Given the description of an element on the screen output the (x, y) to click on. 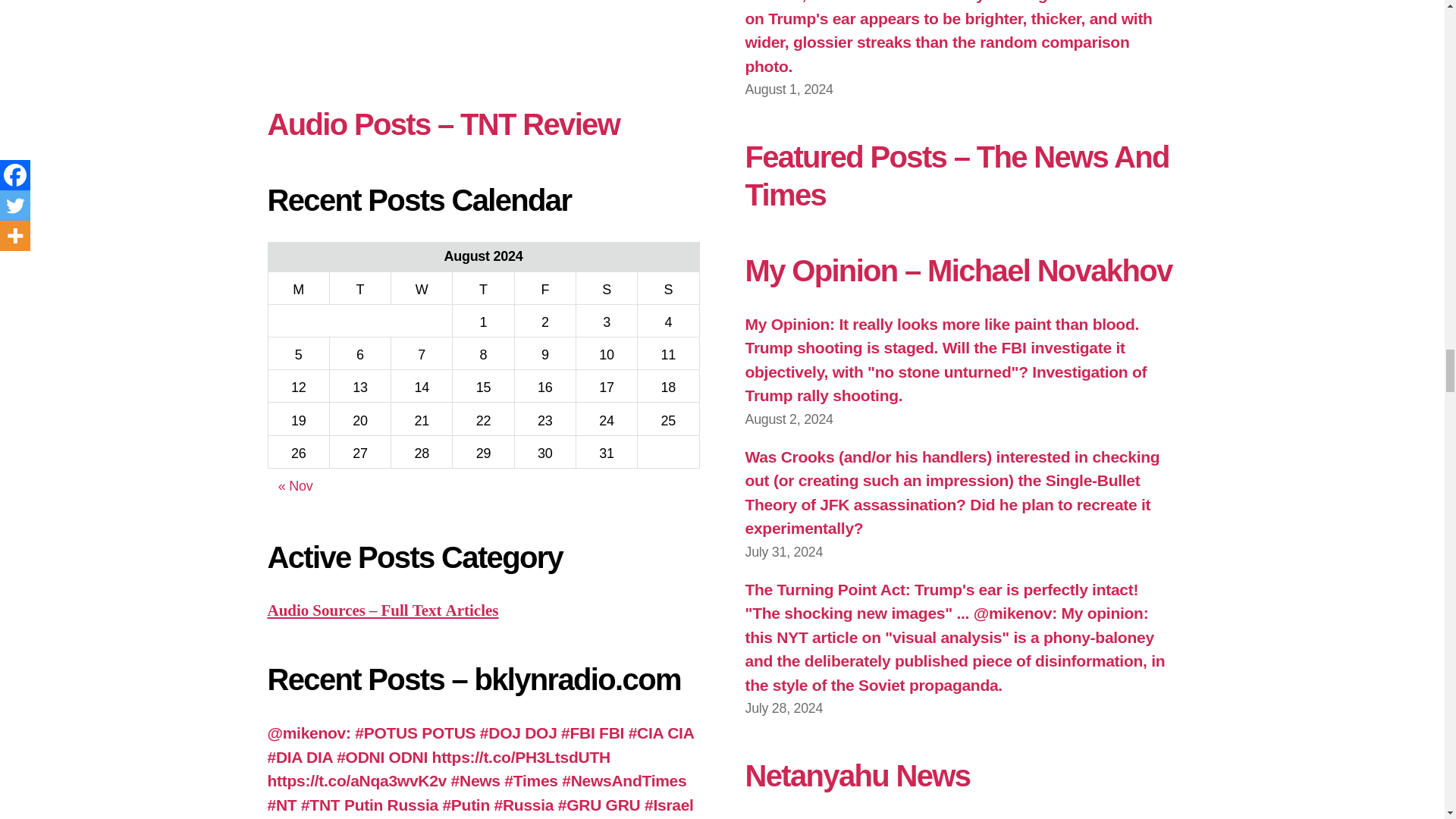
Tuesday (359, 287)
Thursday (482, 287)
Saturday (606, 287)
Friday (544, 287)
Wednesday (421, 287)
Monday (298, 287)
